Given the description of an element on the screen output the (x, y) to click on. 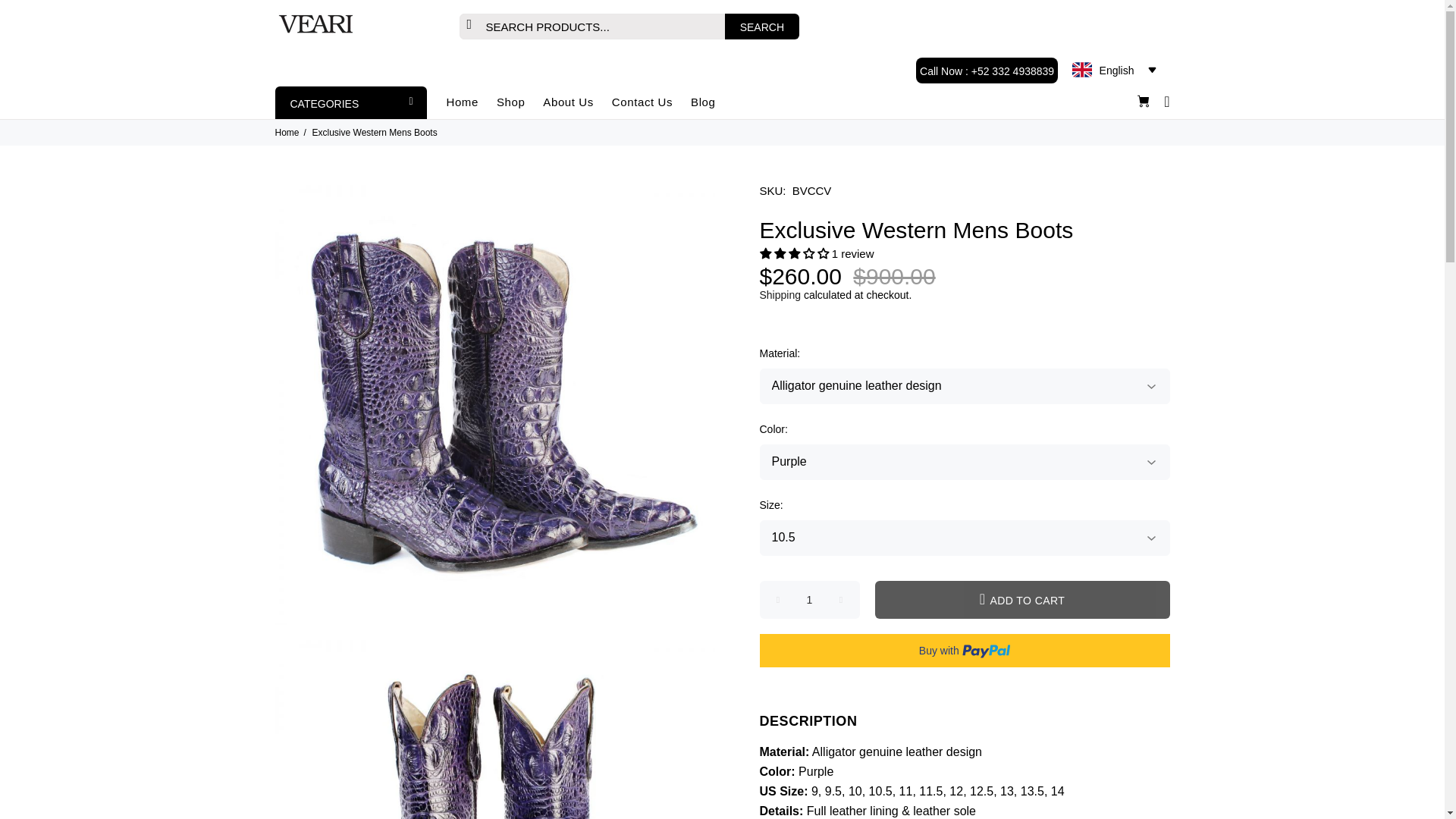
1 (810, 599)
CATEGORIES (350, 102)
SEARCH (762, 26)
